Given the description of an element on the screen output the (x, y) to click on. 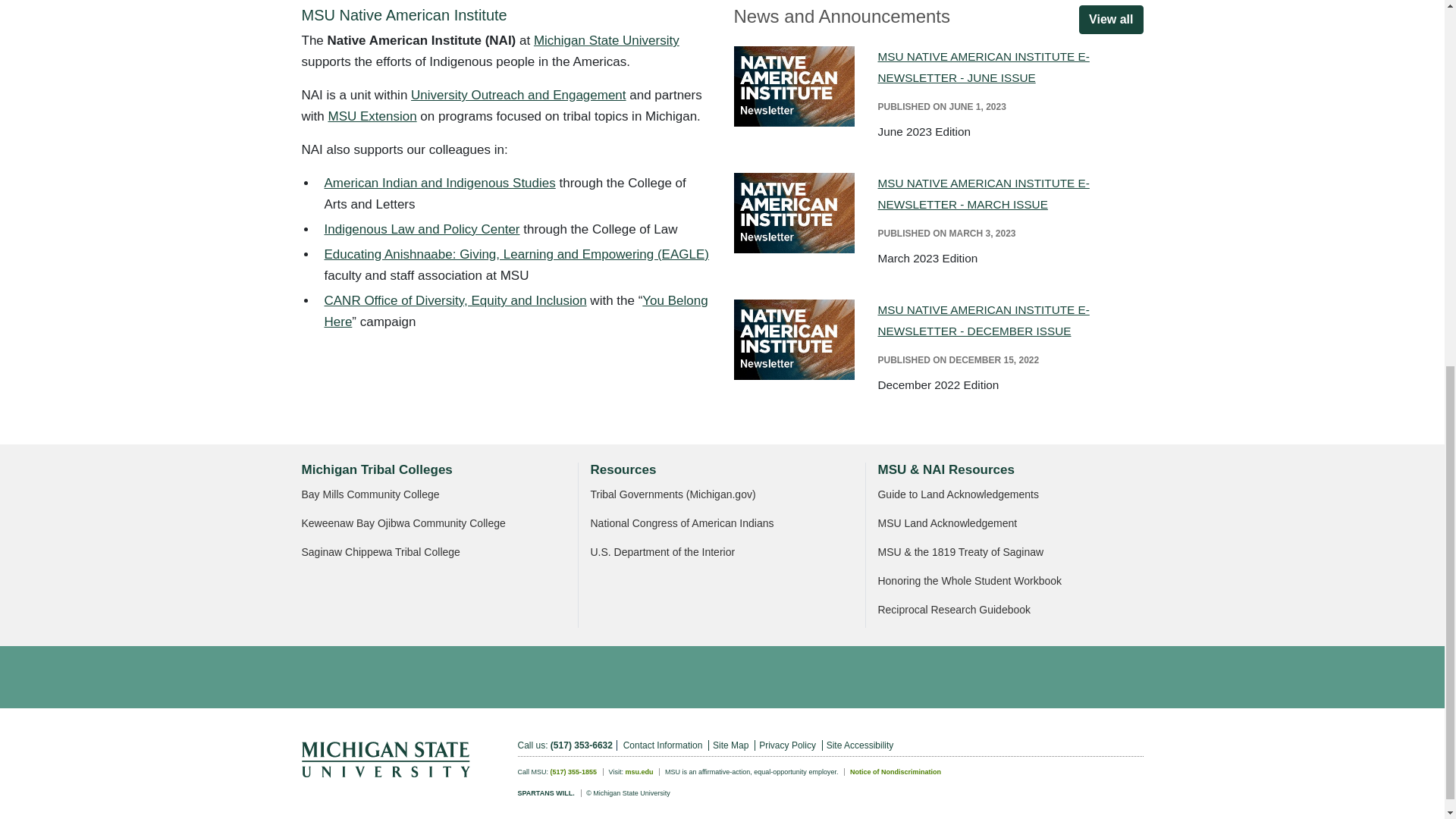
View all (1110, 19)
Michigan State University (606, 40)
CANR Office of Diversity, Equity and Inclusion (455, 300)
MSU Extension (371, 115)
Indigenous Law and Policy Center (421, 228)
You Belong Here (515, 311)
University Outreach and Engagement (518, 94)
American Indian and Indigenous Studies (440, 183)
